Given the description of an element on the screen output the (x, y) to click on. 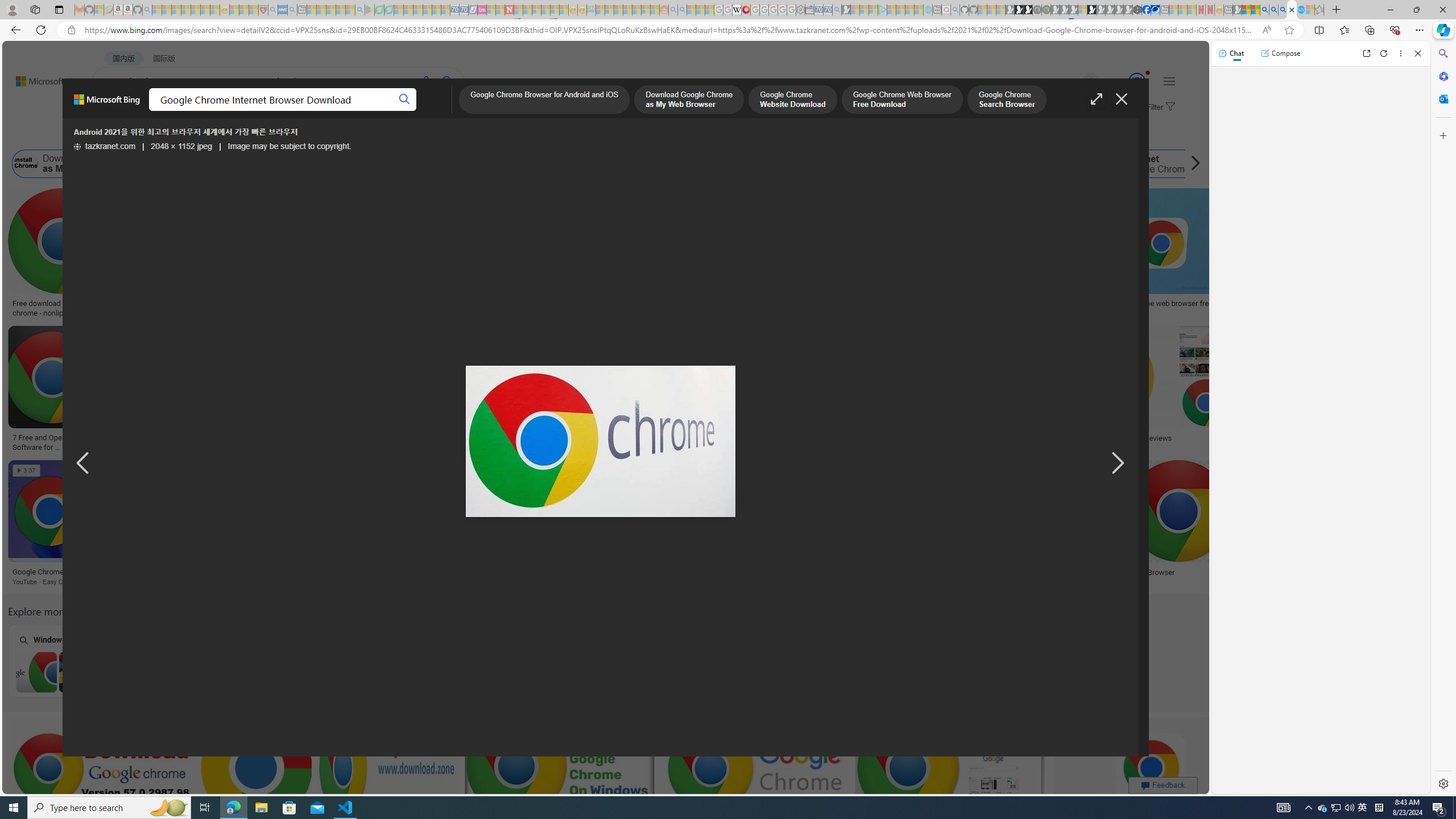
Google Chrome Download The Fast Secure Browser From Google (377, 441)
License (377, 135)
Download Google Chrome As My Web Browser (272, 571)
Google Chrome Browser for Android and iOS (544, 100)
Latest Google Chrome Free Download (911, 163)
Filter (1158, 107)
All Categories - humanrewaSave (605, 390)
